Given the description of an element on the screen output the (x, y) to click on. 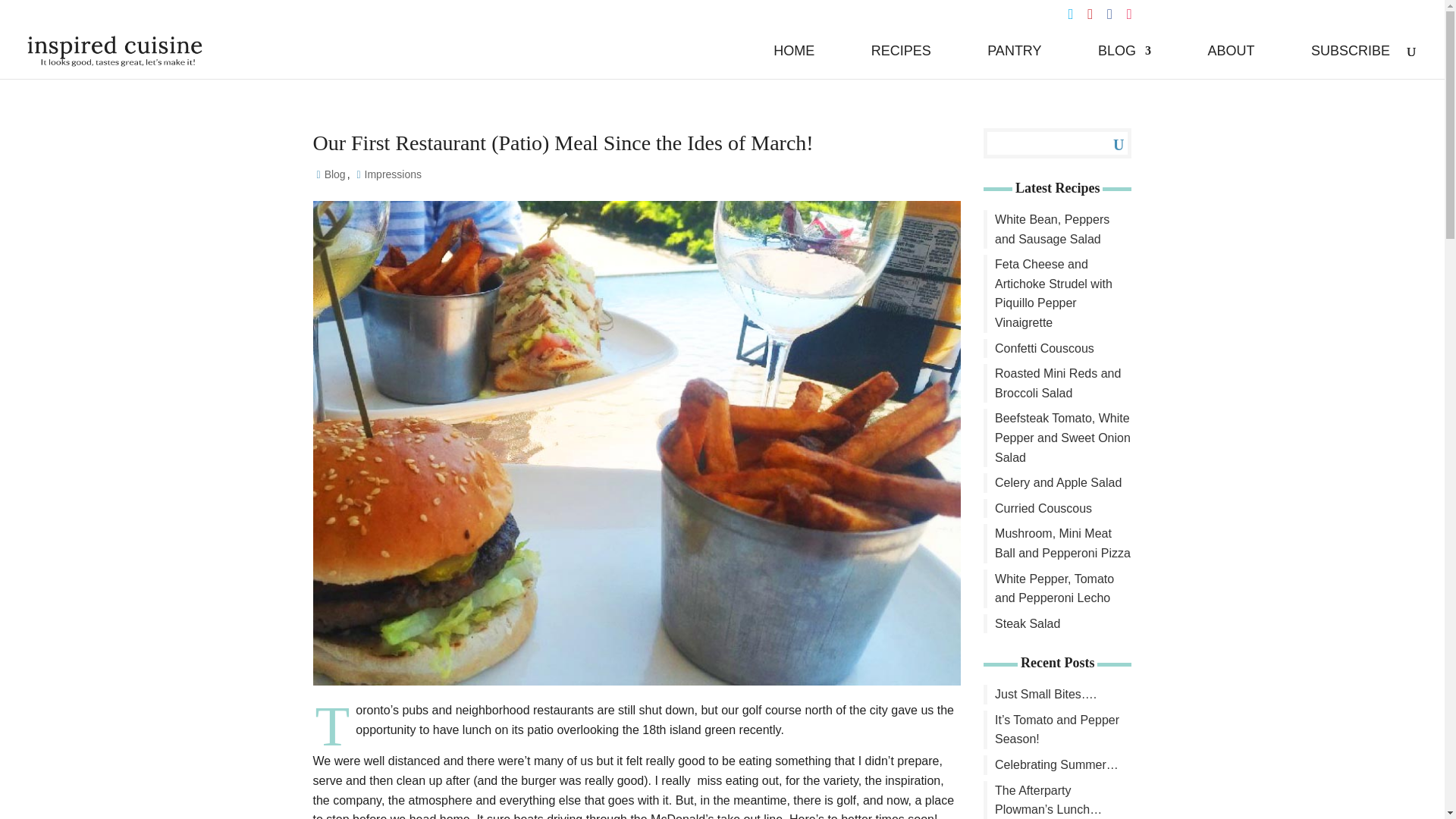
ABOUT (1230, 61)
Impressions (395, 175)
SUBSCRIBE (1350, 61)
Search (1107, 142)
HOME (793, 61)
PANTRY (1014, 61)
BLOG (1124, 61)
RECIPES (900, 61)
